Given the description of an element on the screen output the (x, y) to click on. 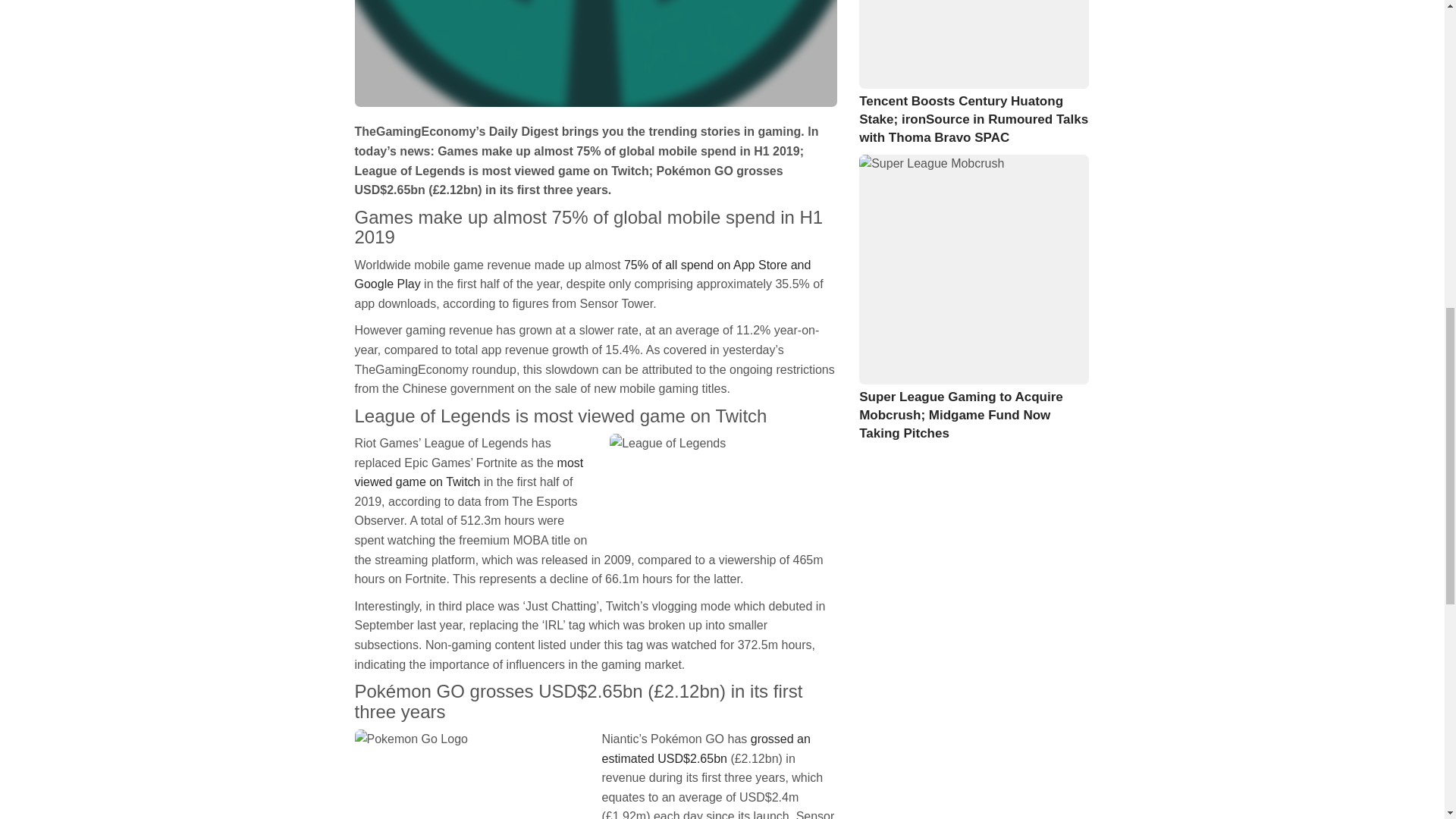
most viewed game on Twitch (469, 472)
